Given the description of an element on the screen output the (x, y) to click on. 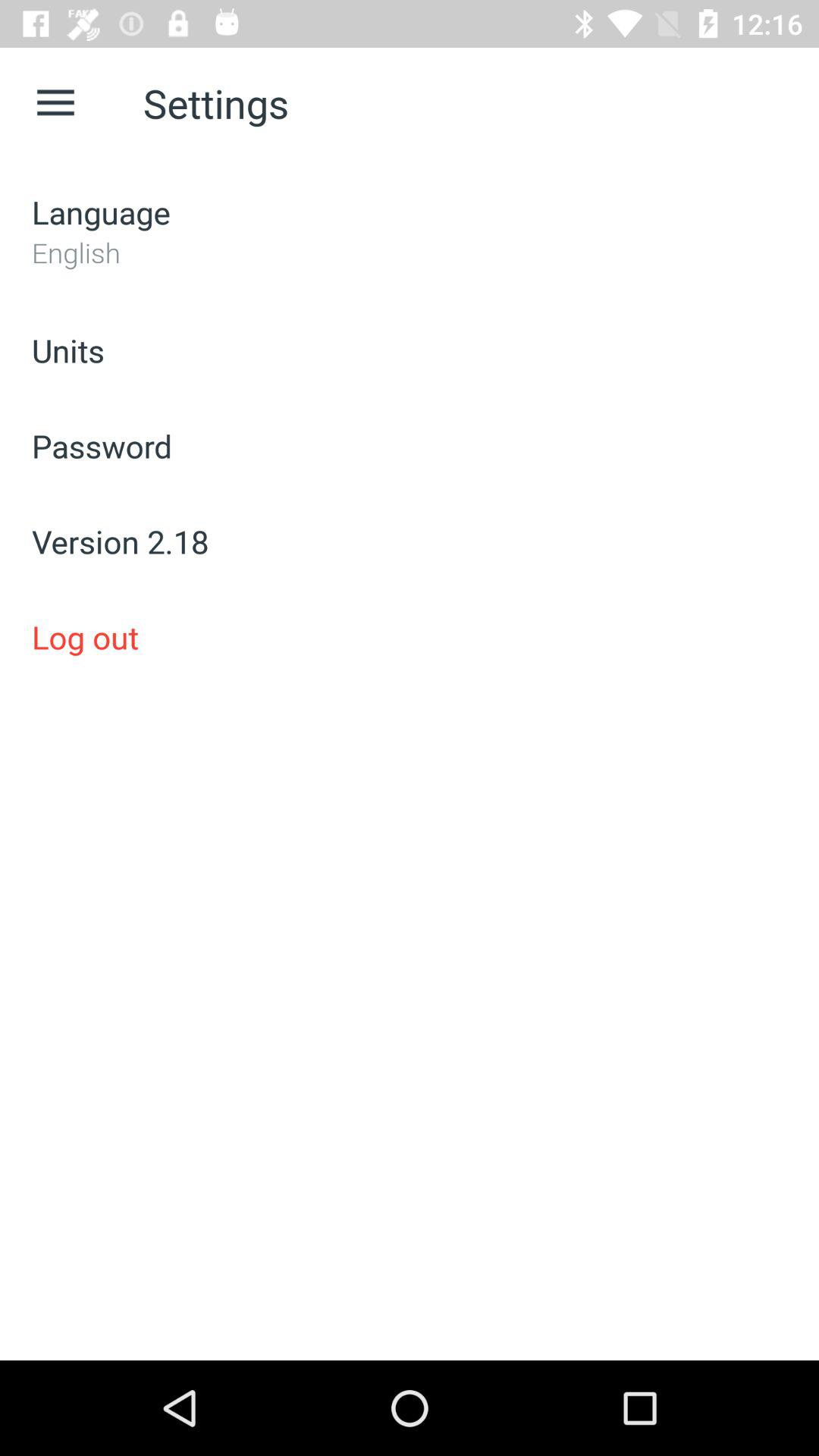
choose the units item (409, 350)
